Given the description of an element on the screen output the (x, y) to click on. 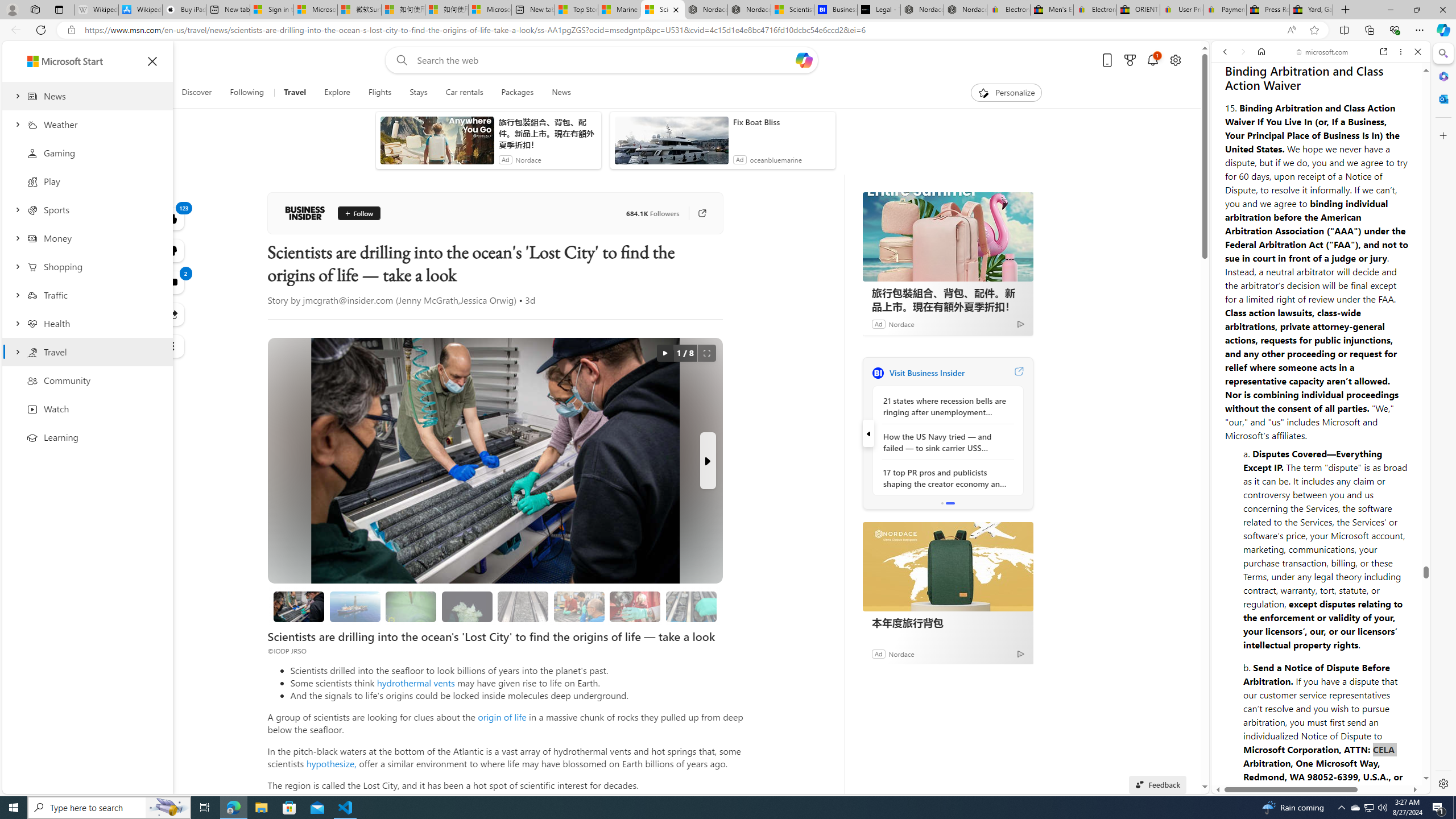
Stays (418, 92)
Next Slide (707, 460)
Car rentals (464, 92)
Open in New Tab (1321, 768)
